Given the description of an element on the screen output the (x, y) to click on. 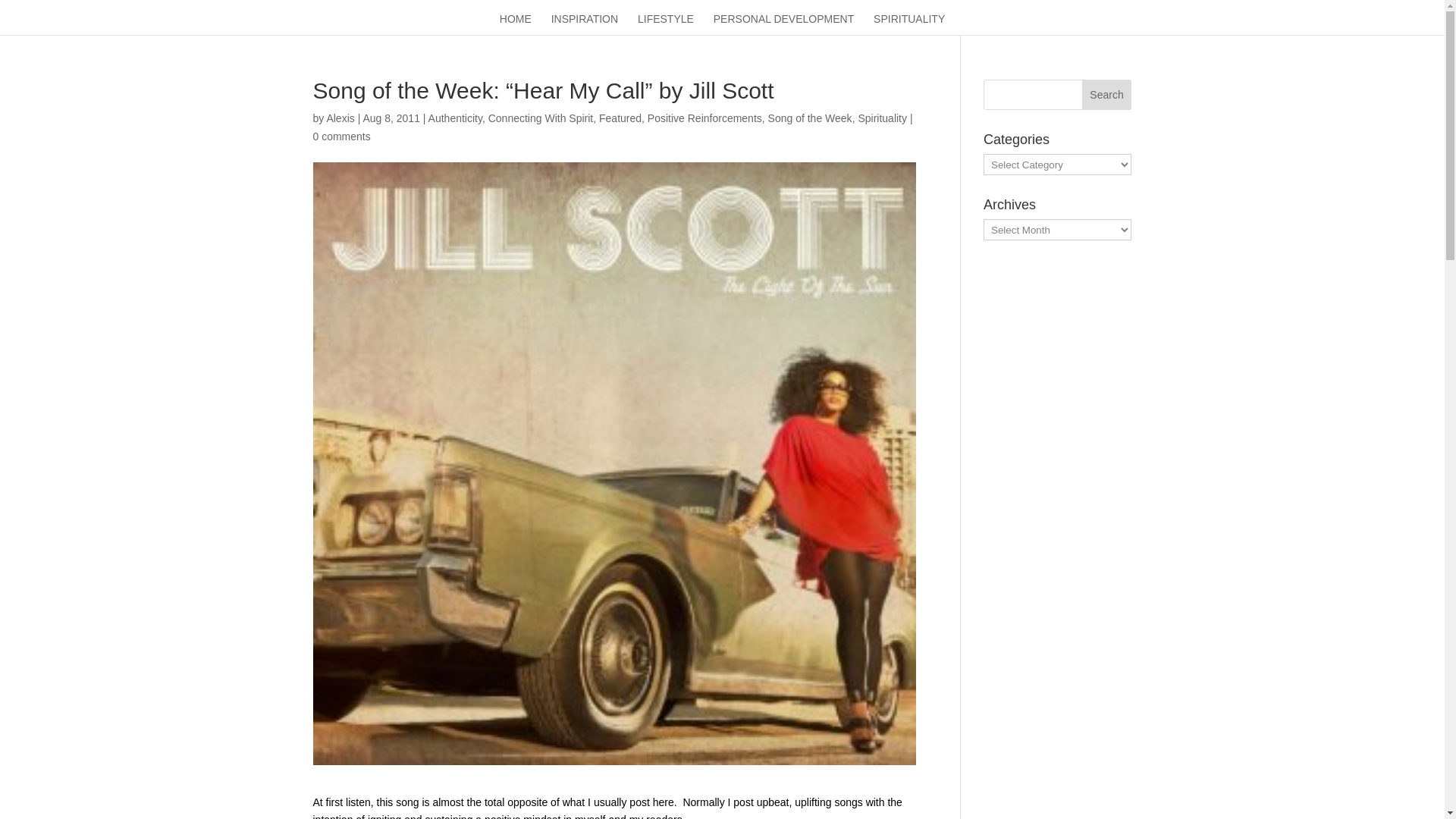
Alexis (339, 118)
Authenticity (454, 118)
Search (1106, 94)
LIFESTYLE (665, 24)
Connecting With Spirit (540, 118)
Spirituality (882, 118)
Featured (620, 118)
Positive Reinforcements (704, 118)
SPIRITUALITY (908, 24)
Search (1106, 94)
INSPIRATION (584, 24)
Posts by Alexis (339, 118)
0 comments (341, 136)
PERSONAL DEVELOPMENT (783, 24)
HOME (515, 24)
